Given the description of an element on the screen output the (x, y) to click on. 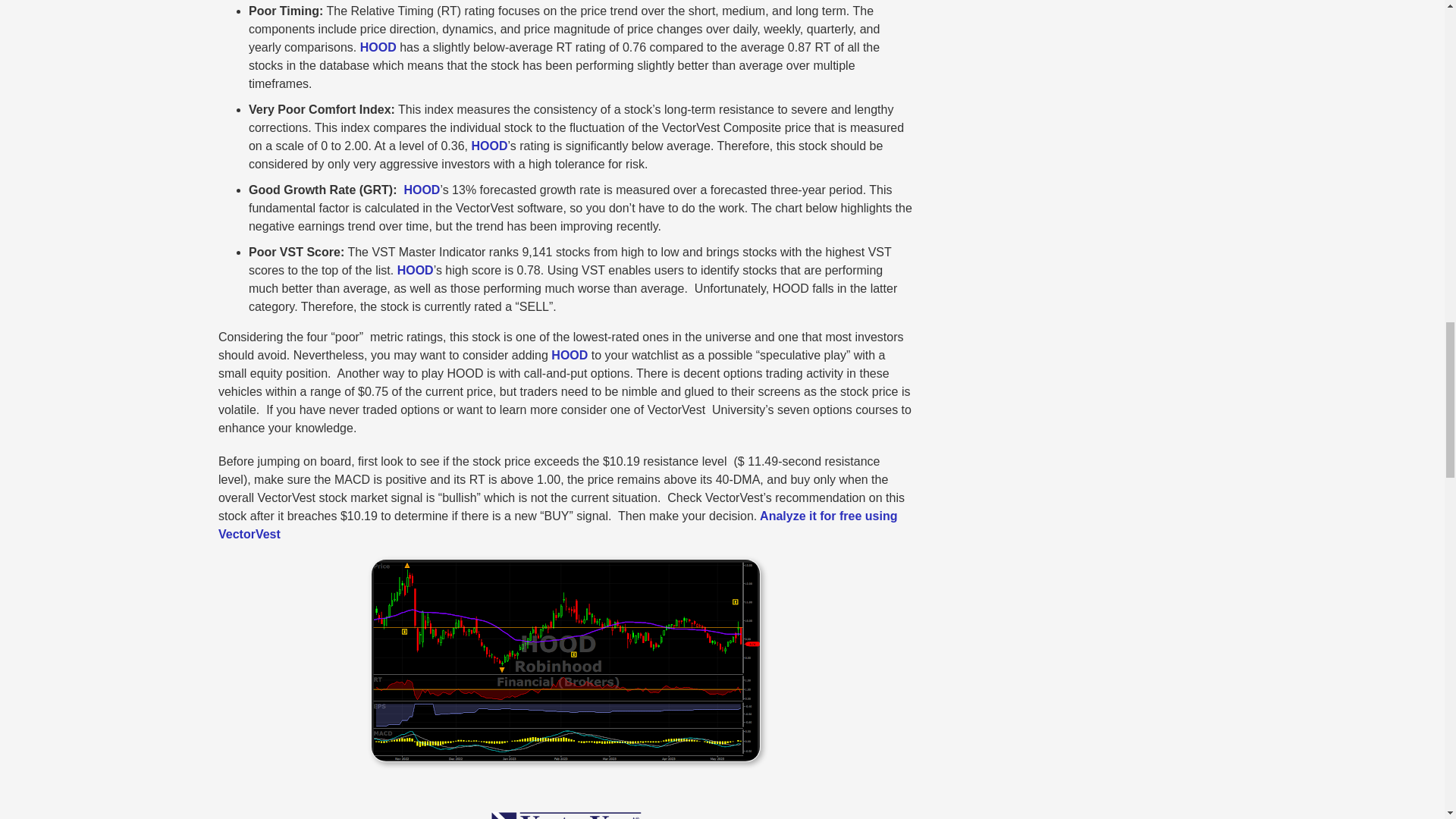
unnamed (565, 564)
